Given the description of an element on the screen output the (x, y) to click on. 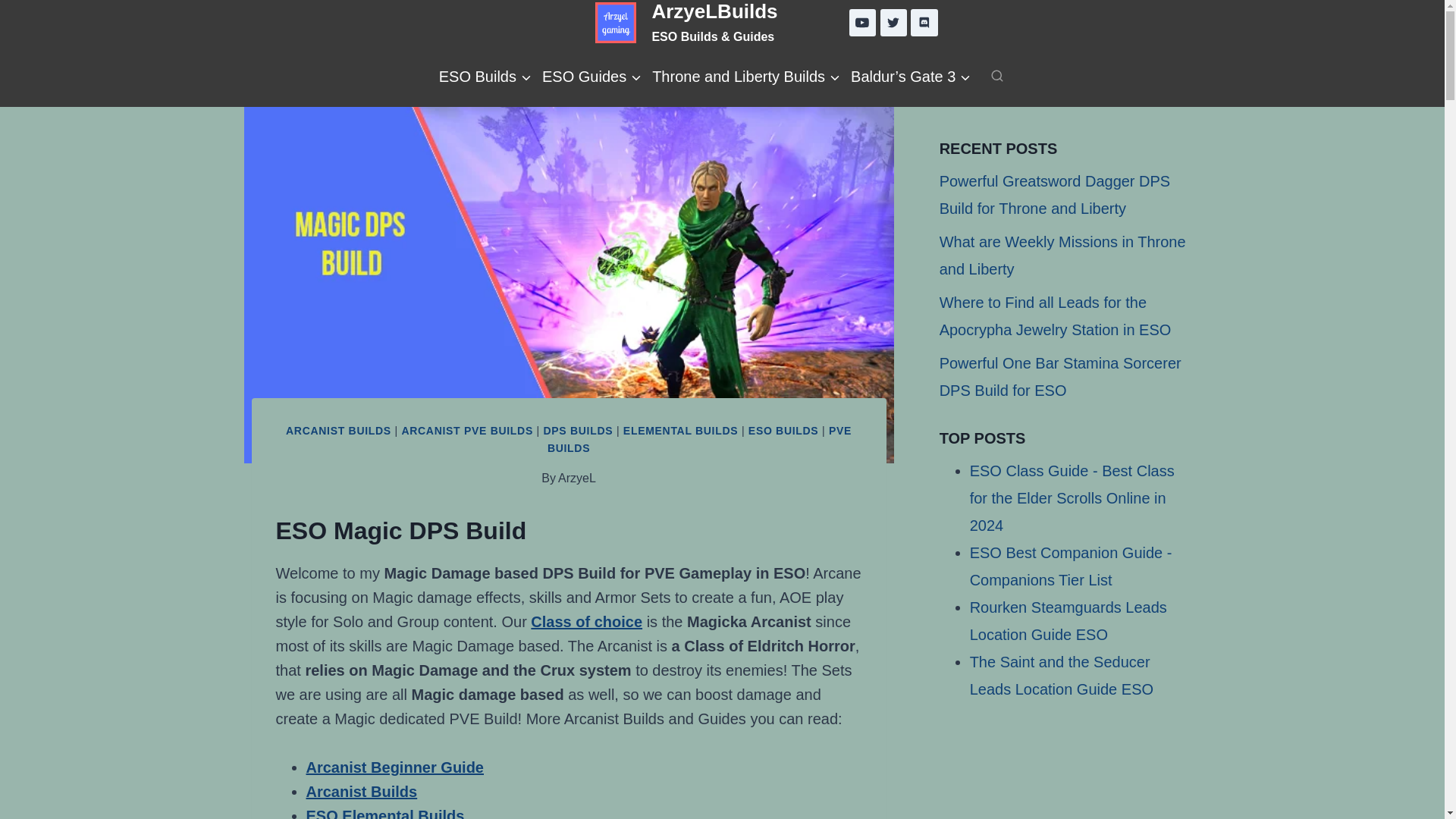
ESO Guides (591, 76)
Throne and Liberty Builds (745, 76)
ESO Builds (485, 76)
